Given the description of an element on the screen output the (x, y) to click on. 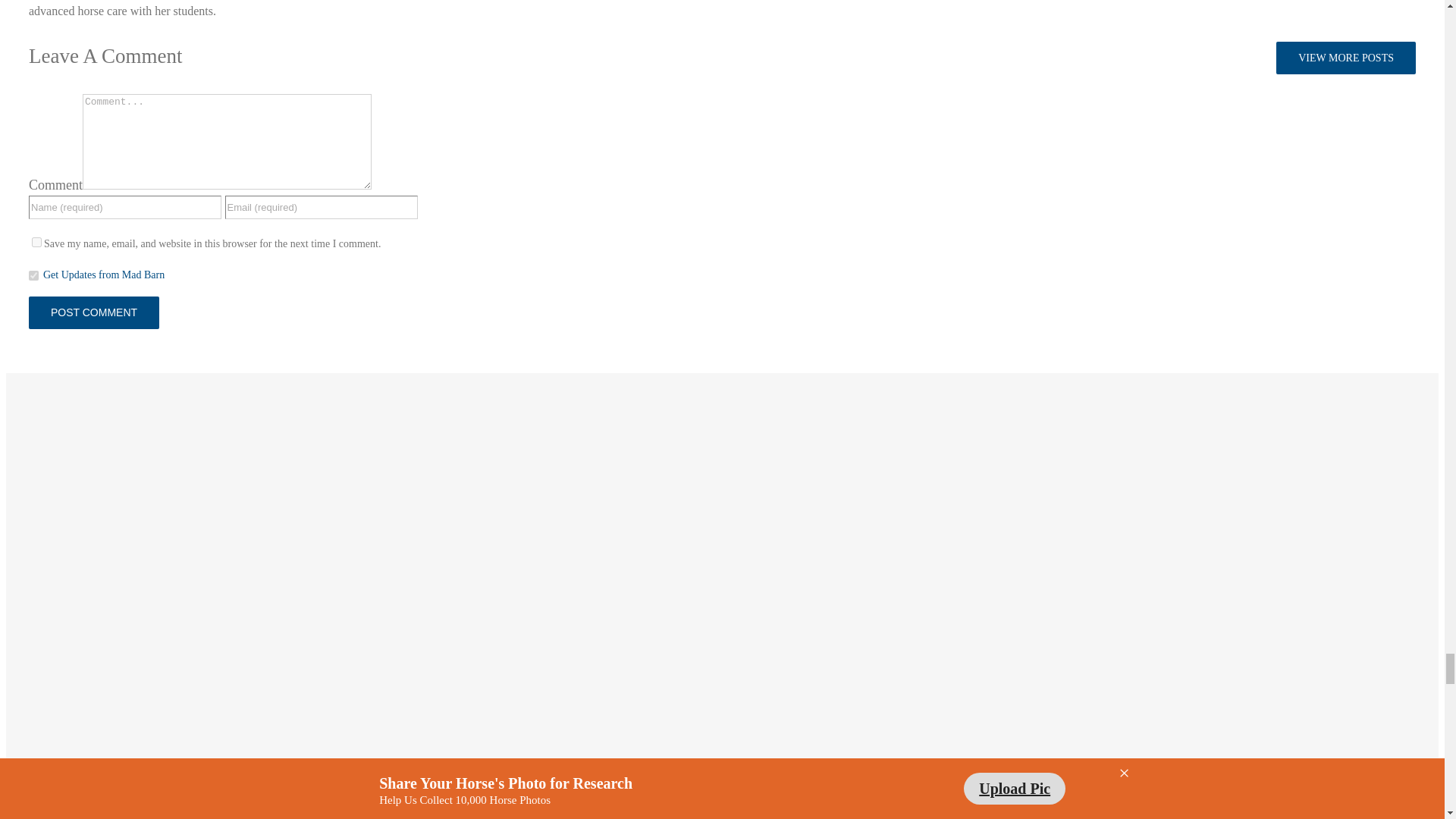
yes (37, 242)
Post Comment (93, 312)
1 (34, 275)
